Given the description of an element on the screen output the (x, y) to click on. 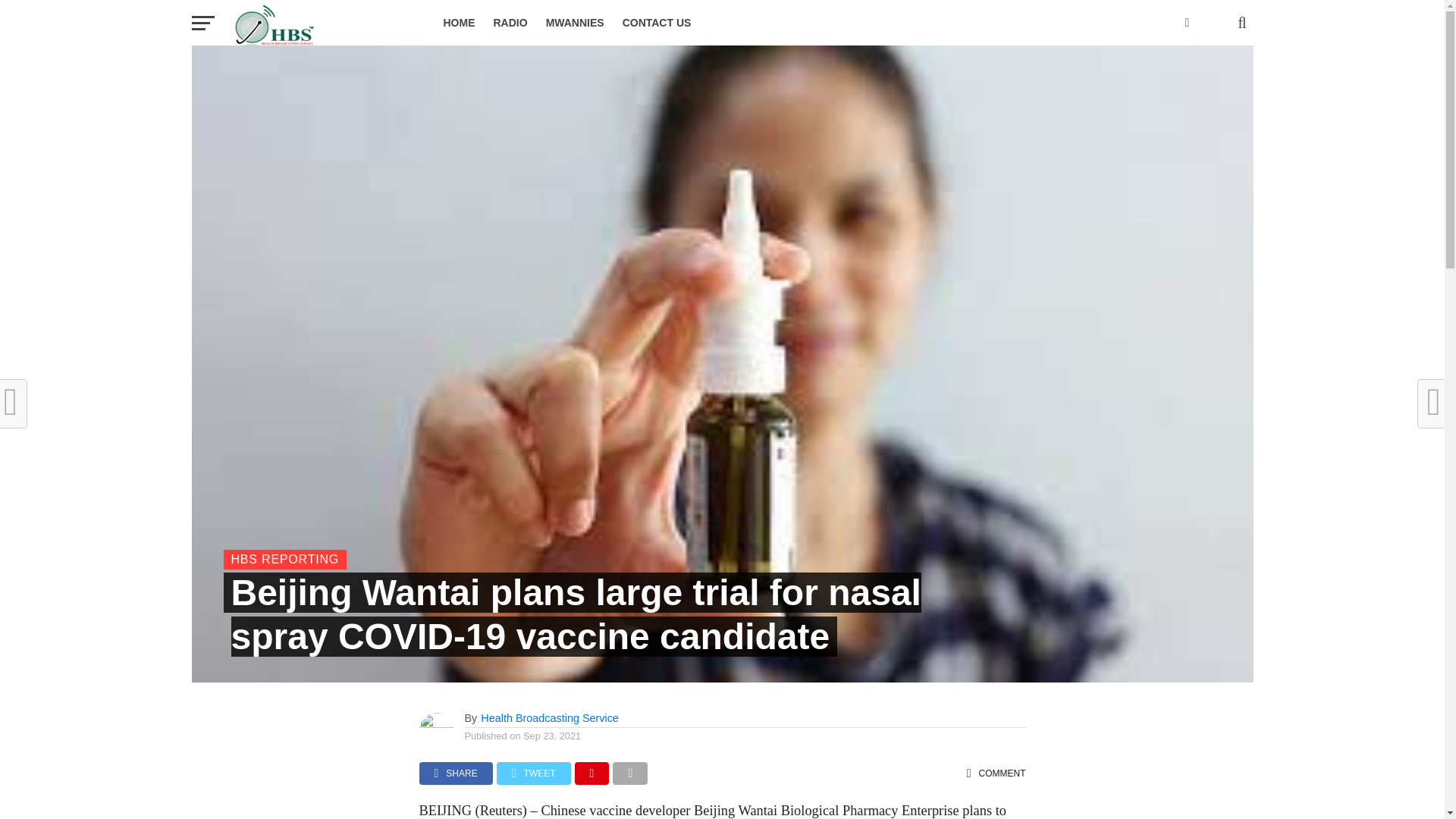
HOME (458, 22)
CONTACT US (656, 22)
RADIO (509, 22)
MWANNIES (574, 22)
Posts by Health Broadcasting Service (549, 717)
Health Broadcasting Service (549, 717)
